Given the description of an element on the screen output the (x, y) to click on. 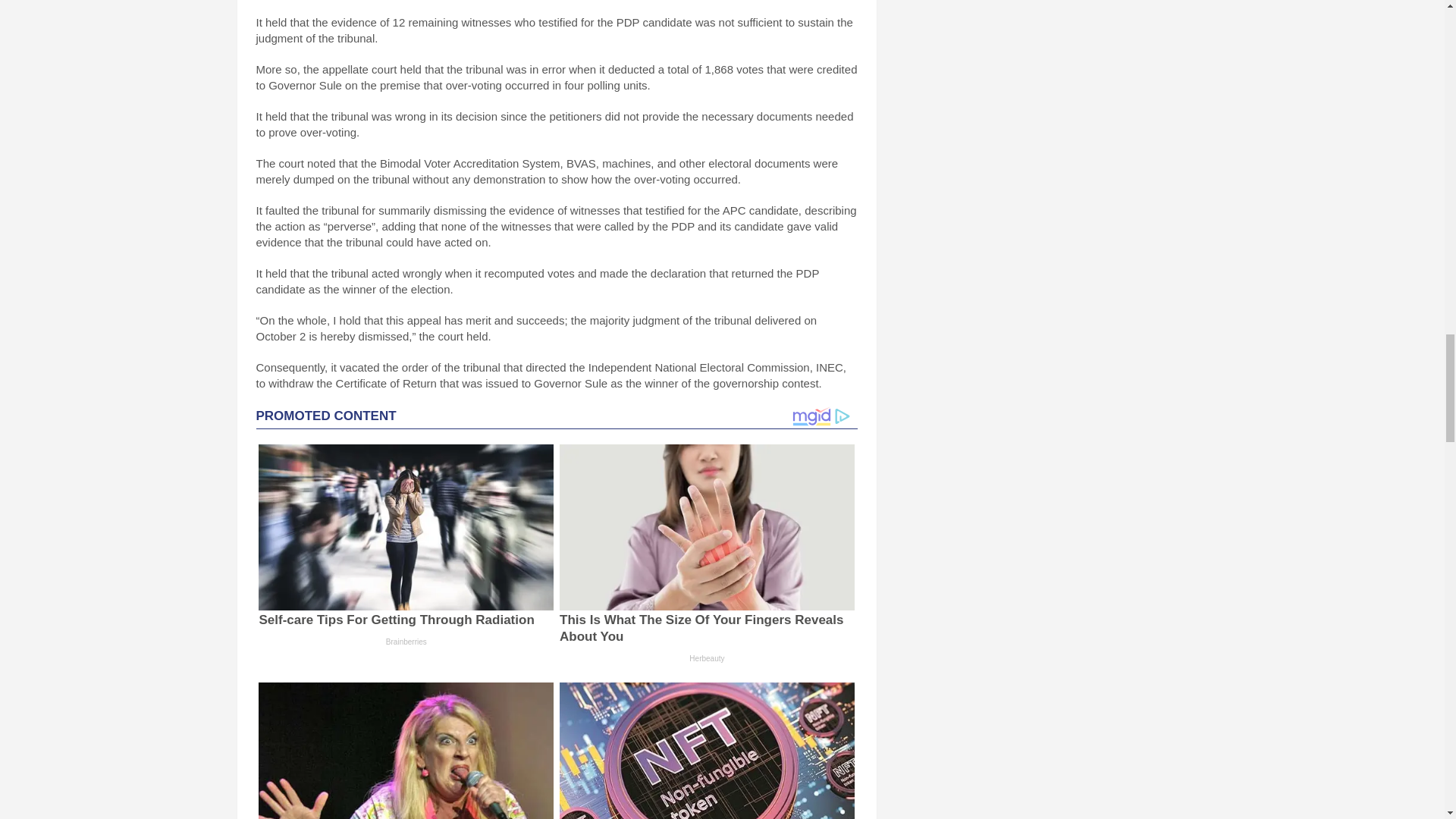
This Is What The Size Of Your Fingers Reveals About You (701, 627)
Self-care Tips For Getting Through Radiation (396, 619)
Brainberries (406, 640)
Herbeauty (706, 657)
